Given the description of an element on the screen output the (x, y) to click on. 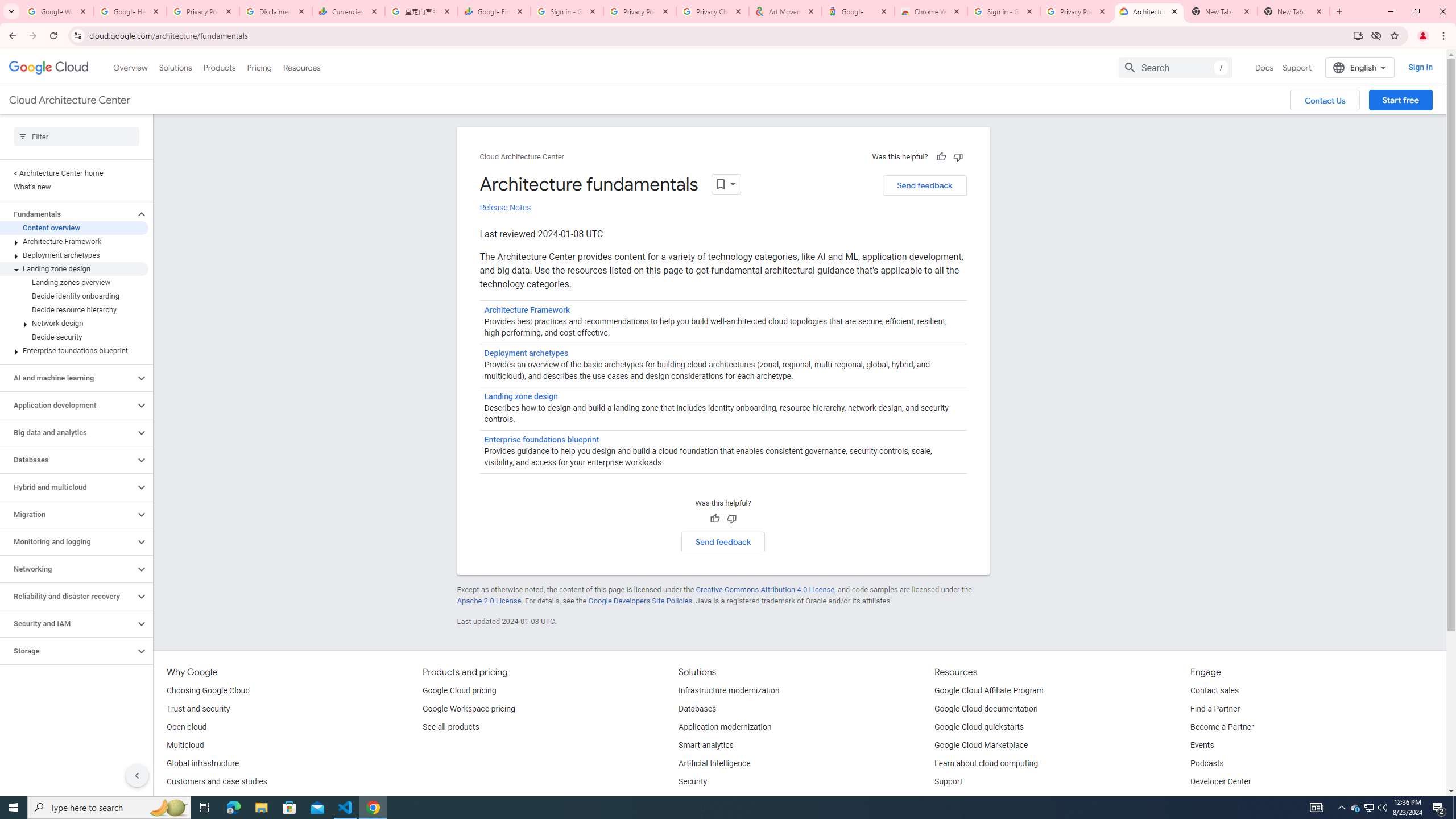
Not helpful (731, 518)
Privacy Checkup (712, 11)
What's new (74, 187)
Solutions (175, 67)
Type to filter (76, 136)
Customers and case studies (216, 782)
Monitoring and logging (67, 541)
Databases (697, 709)
Choosing Google Cloud (207, 691)
